Given the description of an element on the screen output the (x, y) to click on. 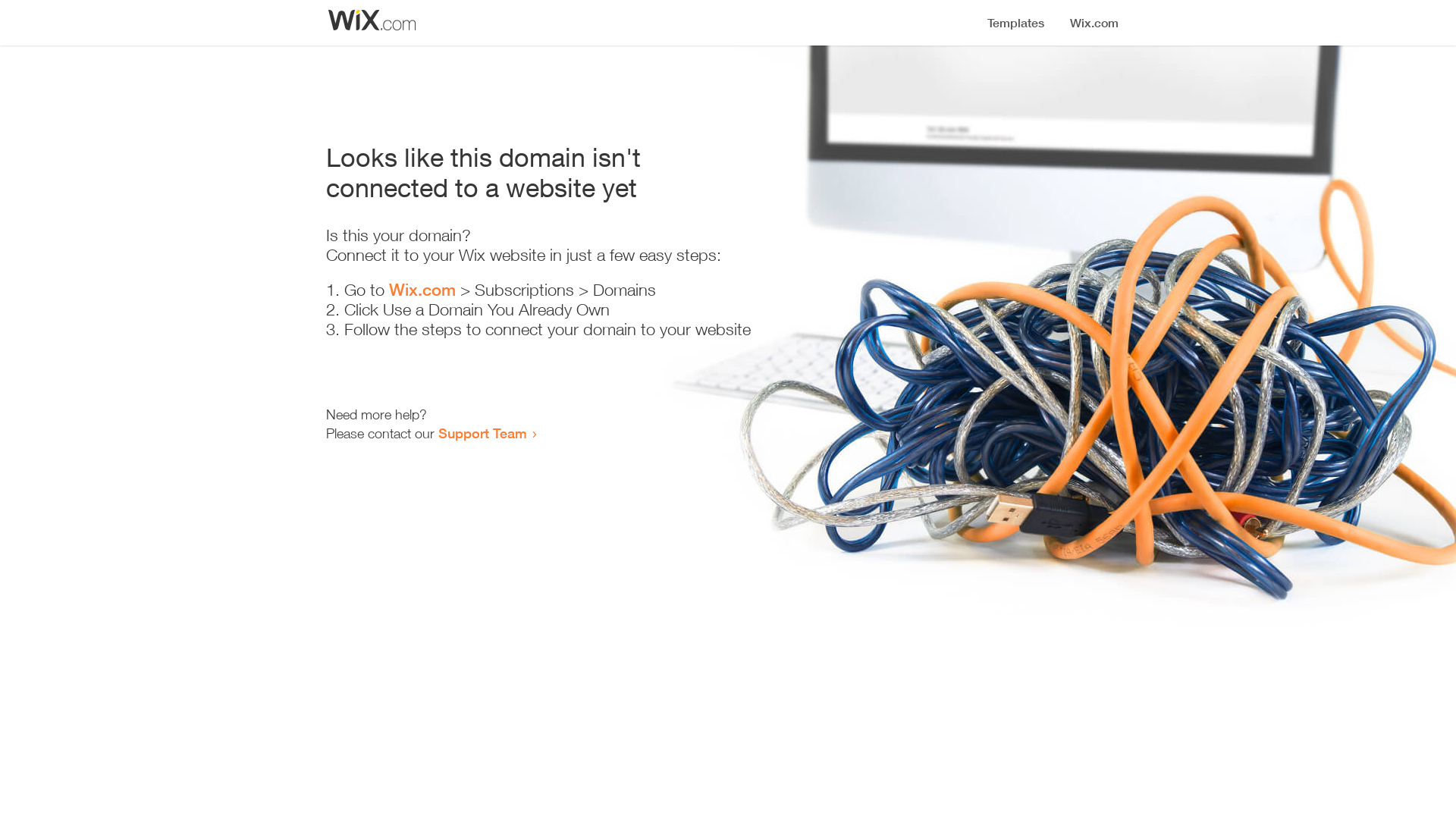
Wix.com Element type: text (422, 289)
Support Team Element type: text (482, 432)
